Given the description of an element on the screen output the (x, y) to click on. 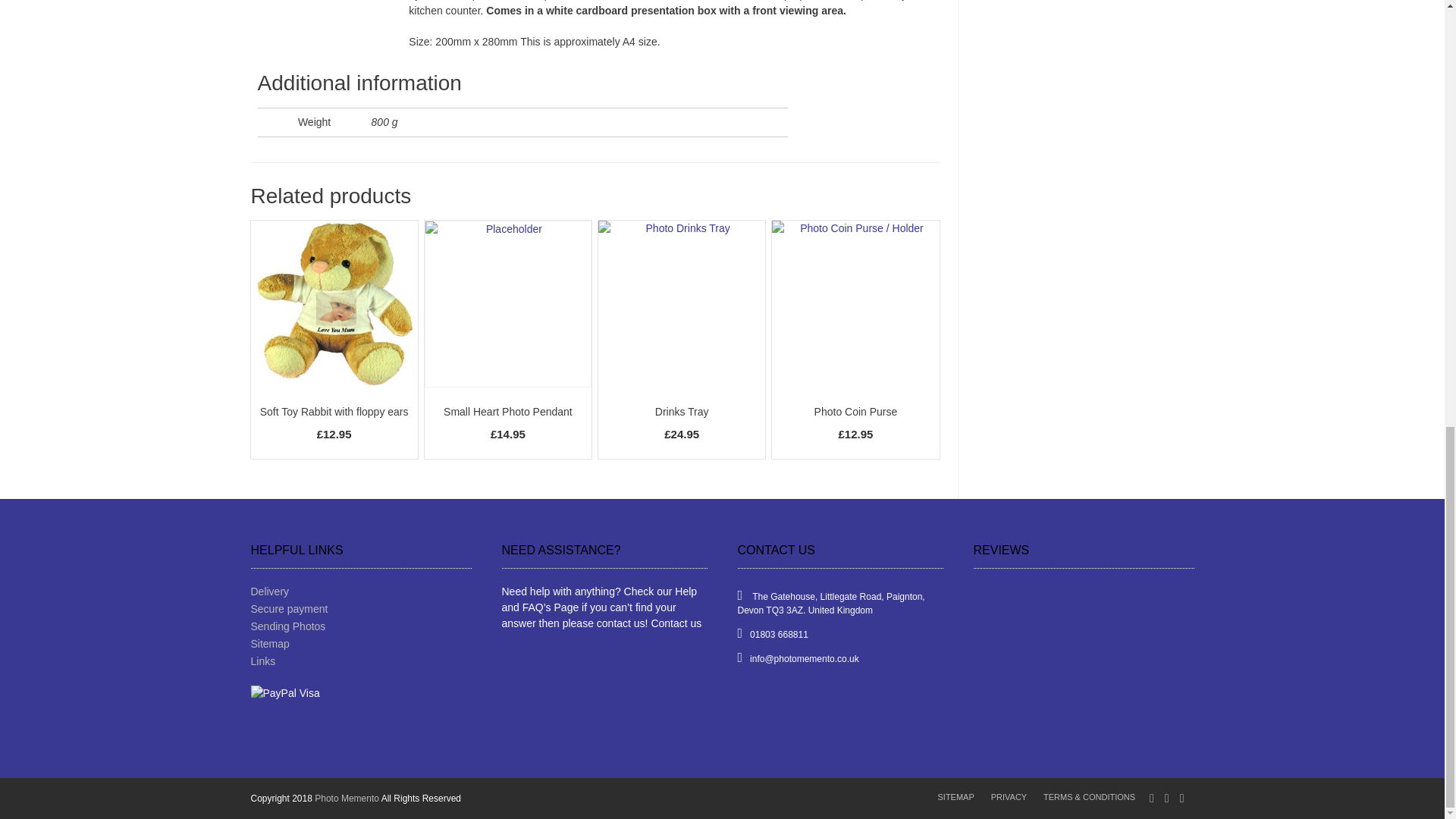
Sending Photos (360, 626)
Delivery (360, 591)
Sitemap (360, 643)
Secure payment (360, 609)
